Given the description of an element on the screen output the (x, y) to click on. 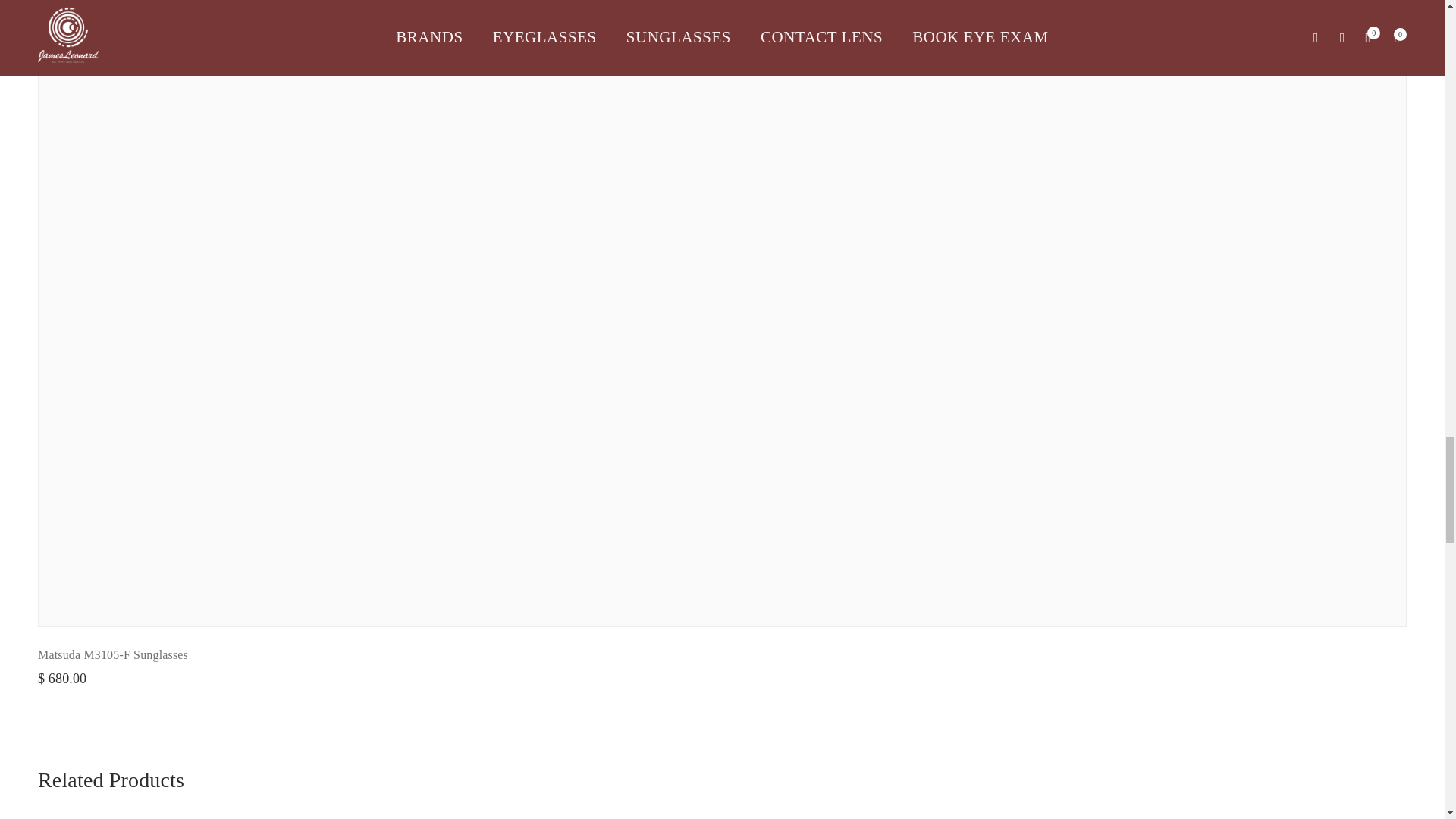
Barton Perreira Renzo Sun Sunglasses (132, 15)
Barton Perreira Renzo Sun Sunglasses (132, 15)
Matsuda M3105-F Sunglasses (112, 654)
